Given the description of an element on the screen output the (x, y) to click on. 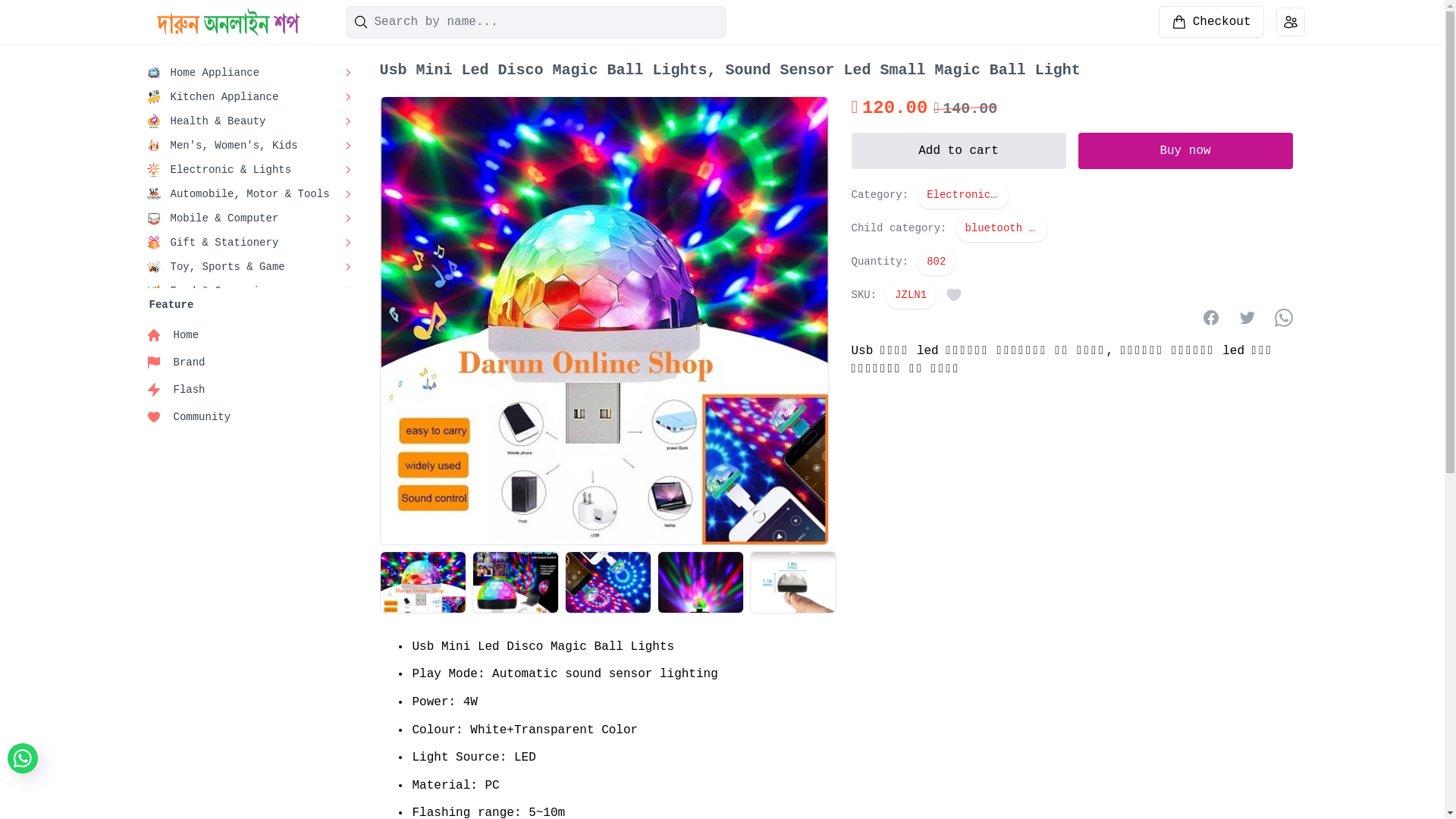
Buy now Element type: text (1185, 150)
facebook Element type: text (1210, 317)
bluetooth music bulb Element type: text (1001, 227)
whatsapp Element type: text (1283, 317)
Community Element type: text (253, 416)
Add to cart Element type: text (957, 150)
twitter Element type: text (1246, 317)
Electronic & Lights Element type: text (962, 194)
Checkout Element type: text (1211, 21)
